Given the description of an element on the screen output the (x, y) to click on. 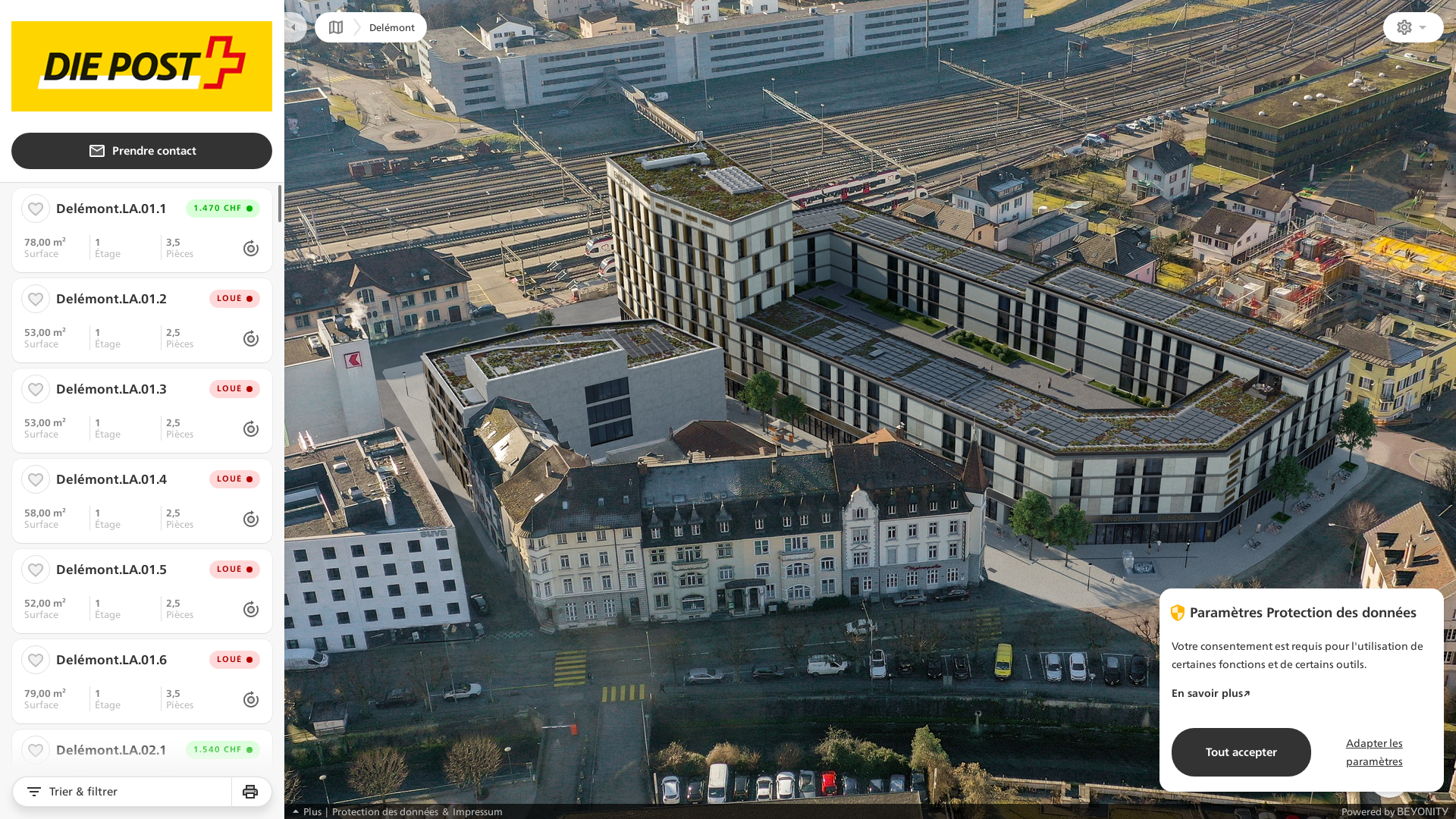
Ajouter/supprimer signet Element type: hover (35, 569)
Ajouter/supprimer signet Element type: hover (35, 749)
Ajouter/supprimer signet Element type: hover (35, 388)
Tout accepter Element type: text (1241, 752)
Ajouter/supprimer signet Element type: hover (35, 208)
Ajouter/supprimer signet Element type: hover (35, 478)
Prendre contact Element type: text (141, 150)
Ajouter/supprimer signet Element type: hover (35, 298)
Ajouter/supprimer signet Element type: hover (35, 659)
Trier & filtrer Element type: text (121, 791)
